Given the description of an element on the screen output the (x, y) to click on. 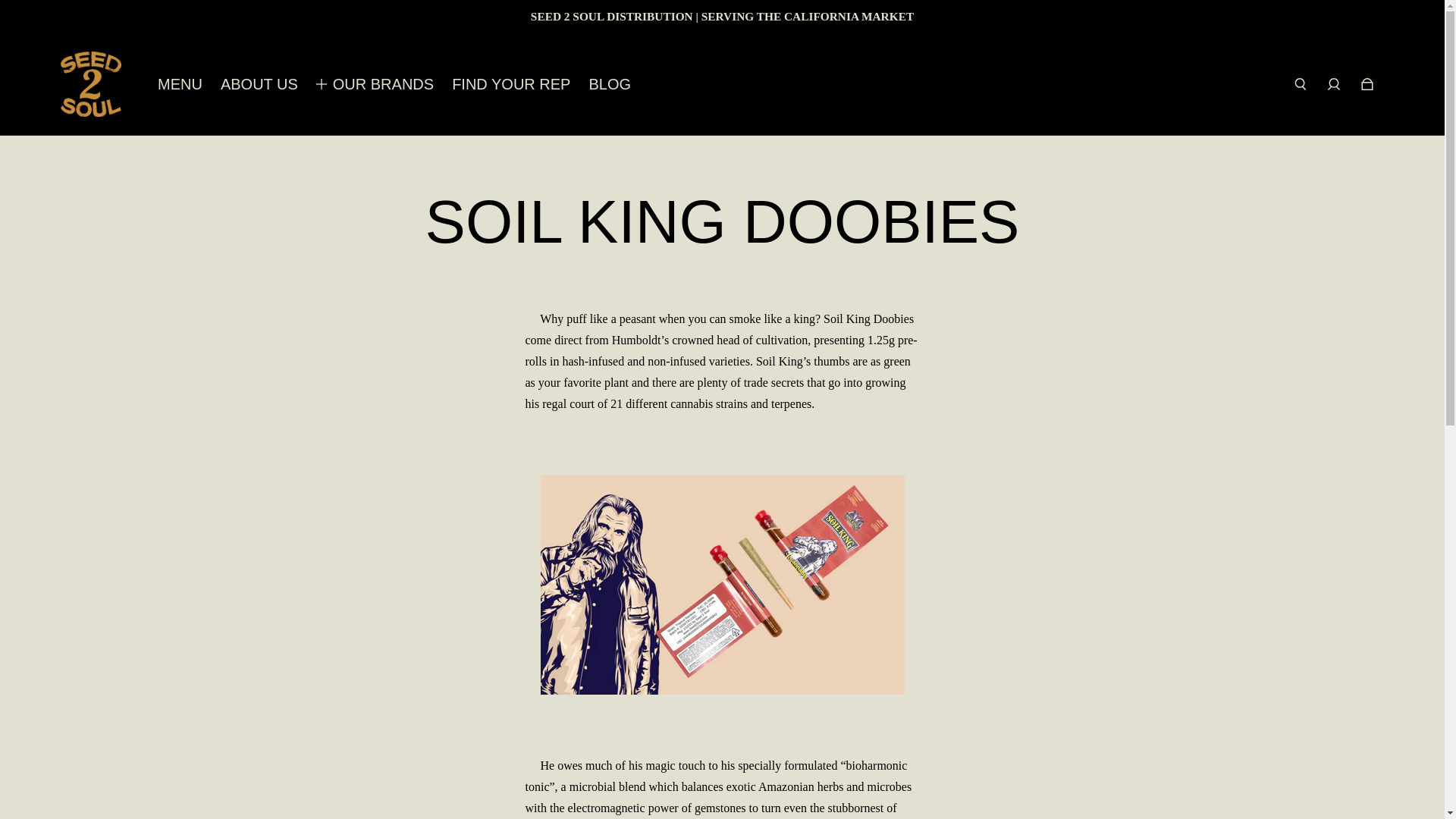
OUR BRANDS (383, 83)
MENU (179, 83)
ABOUT US (259, 83)
FIND YOUR REP (510, 83)
BLOG (609, 83)
